Given the description of an element on the screen output the (x, y) to click on. 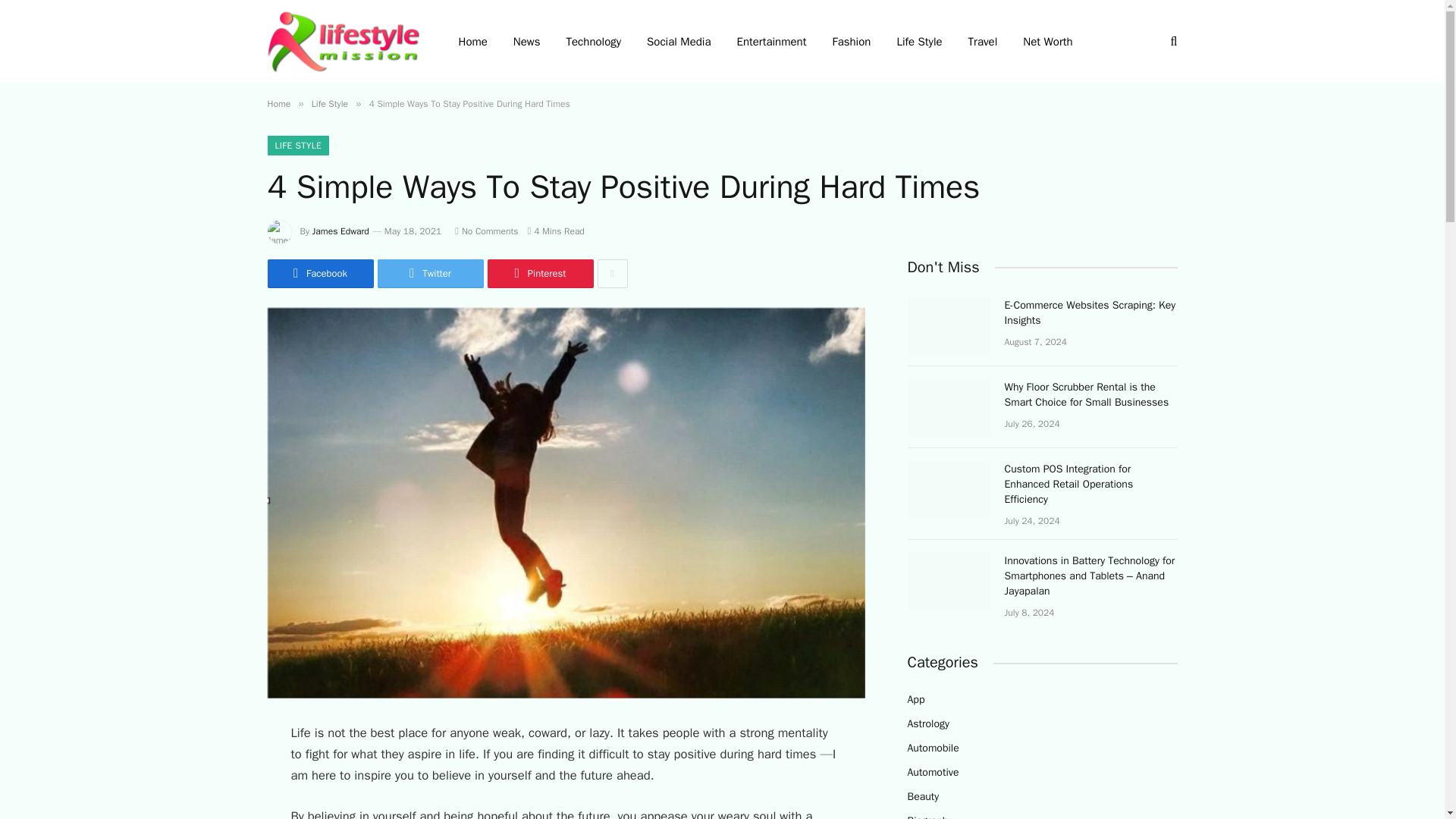
Social Media (678, 41)
Share on Facebook (319, 273)
LIFE STYLE (297, 145)
Life Style (329, 103)
Facebook (319, 273)
Lifestylemission (342, 41)
Show More Social Sharing (611, 273)
Pinterest (539, 273)
Technology (593, 41)
